Given the description of an element on the screen output the (x, y) to click on. 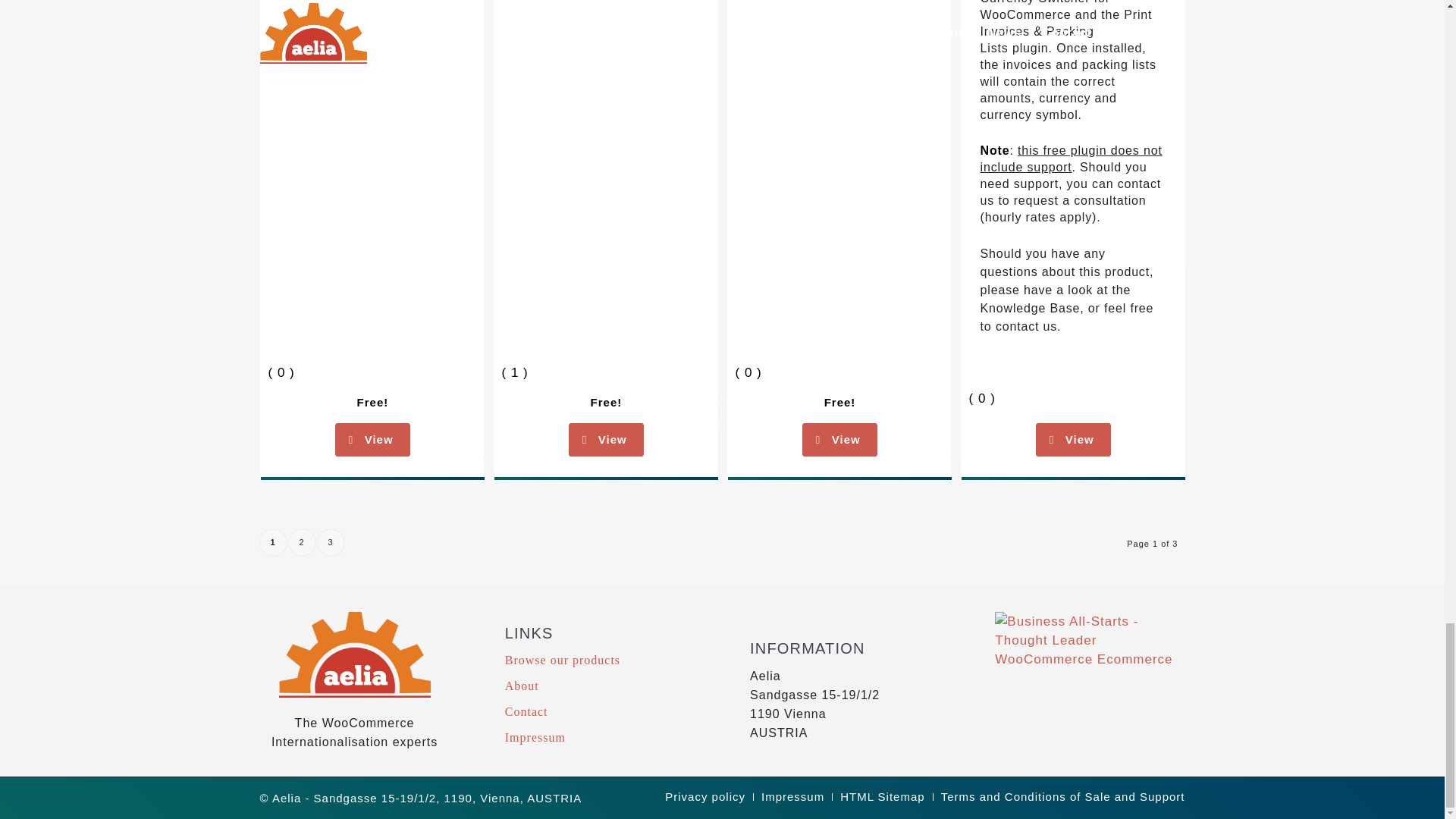
The WooCommerce Internationalisation experts (353, 718)
5.00 (679, 369)
